Given the description of an element on the screen output the (x, y) to click on. 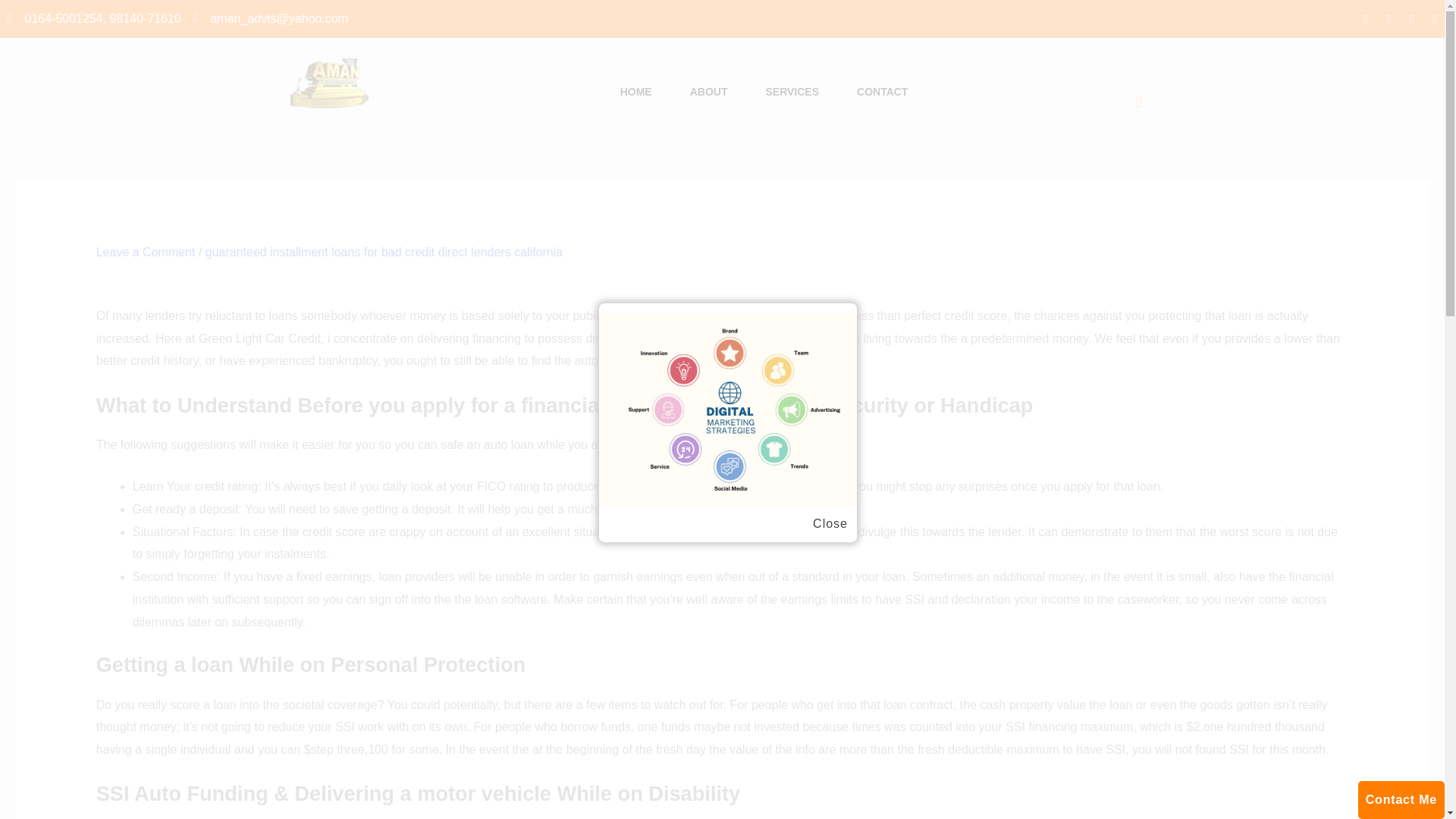
0164-5001254, 98140-71610 (93, 18)
Close (829, 523)
CONTACT (882, 92)
SERVICES (791, 92)
Leave a Comment (145, 251)
ABOUT (708, 92)
HOME (636, 92)
